Given the description of an element on the screen output the (x, y) to click on. 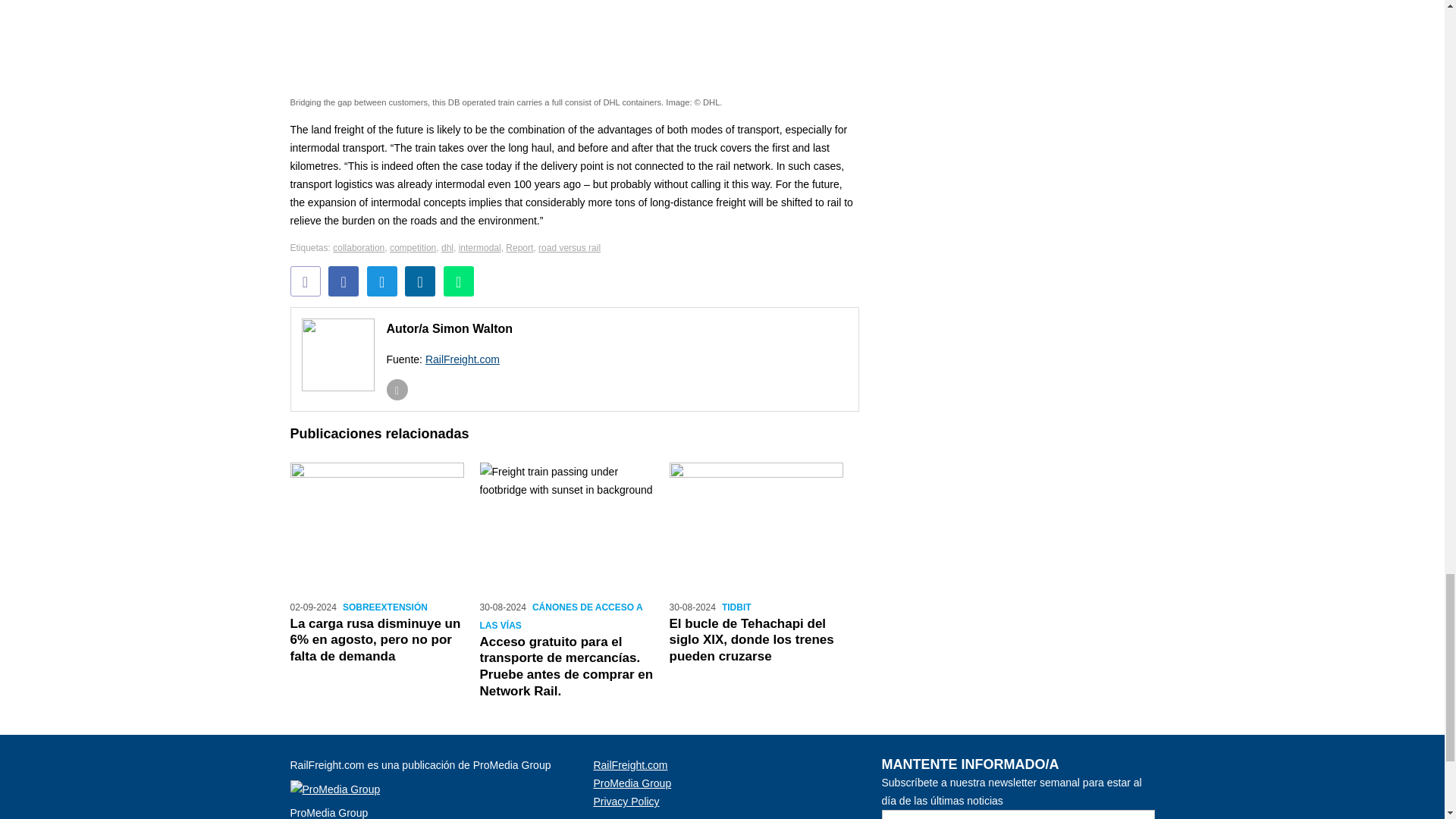
Facebook (343, 281)
E-mail (397, 389)
Report (518, 247)
LinkedIn (419, 281)
road versus rail (568, 247)
Twitter (381, 281)
Twitter (381, 281)
E-mail (304, 281)
RailFreight.com (462, 358)
WhatsApp (459, 281)
